Given the description of an element on the screen output the (x, y) to click on. 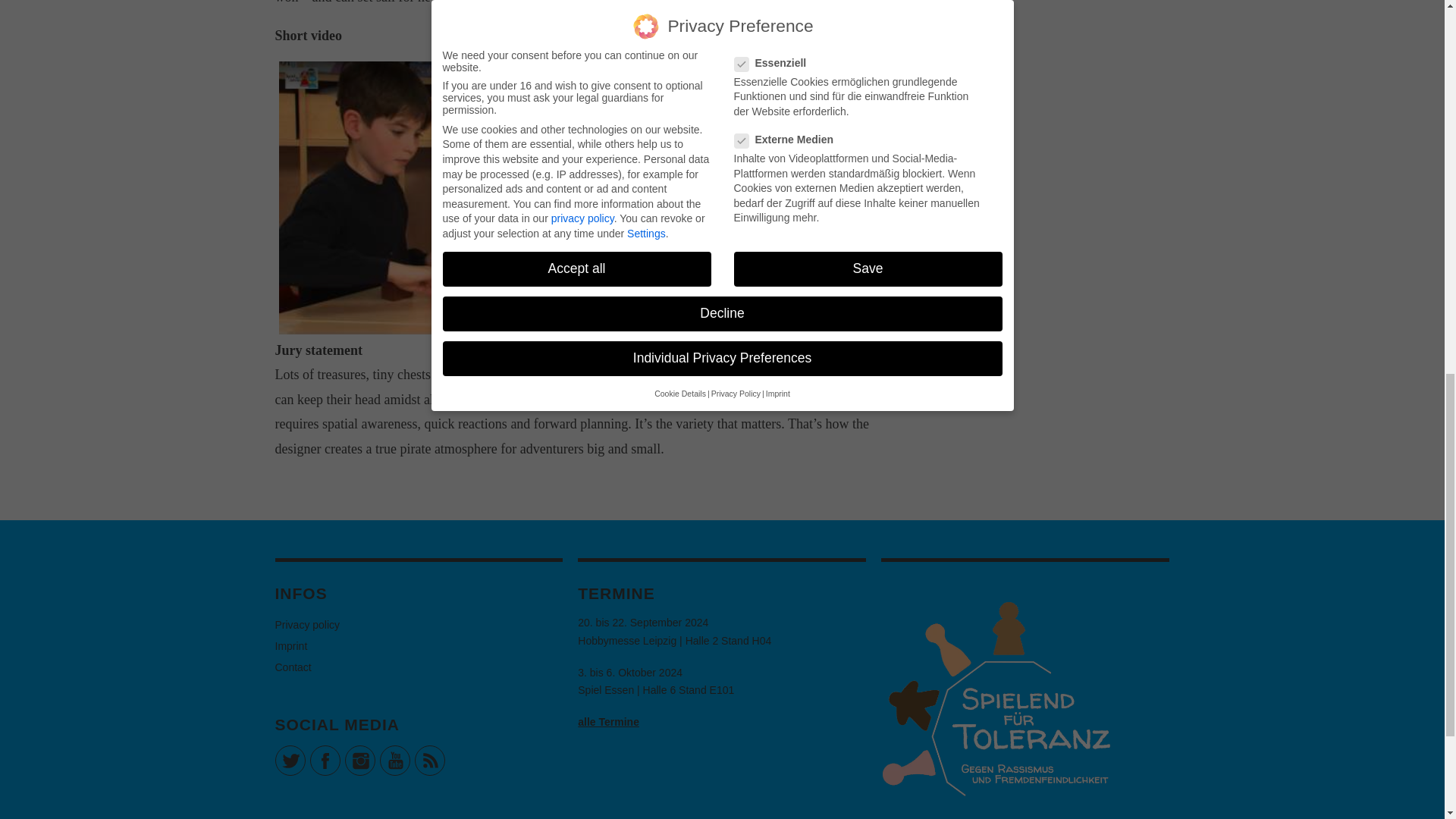
Facebook (323, 760)
Instagram (358, 760)
Privacy policy (307, 624)
Twitter (289, 760)
alle Termine (608, 721)
Instagram (358, 760)
RSS Feed (428, 760)
YouTube (393, 760)
YouTube (393, 760)
Imprint (291, 645)
